Given the description of an element on the screen output the (x, y) to click on. 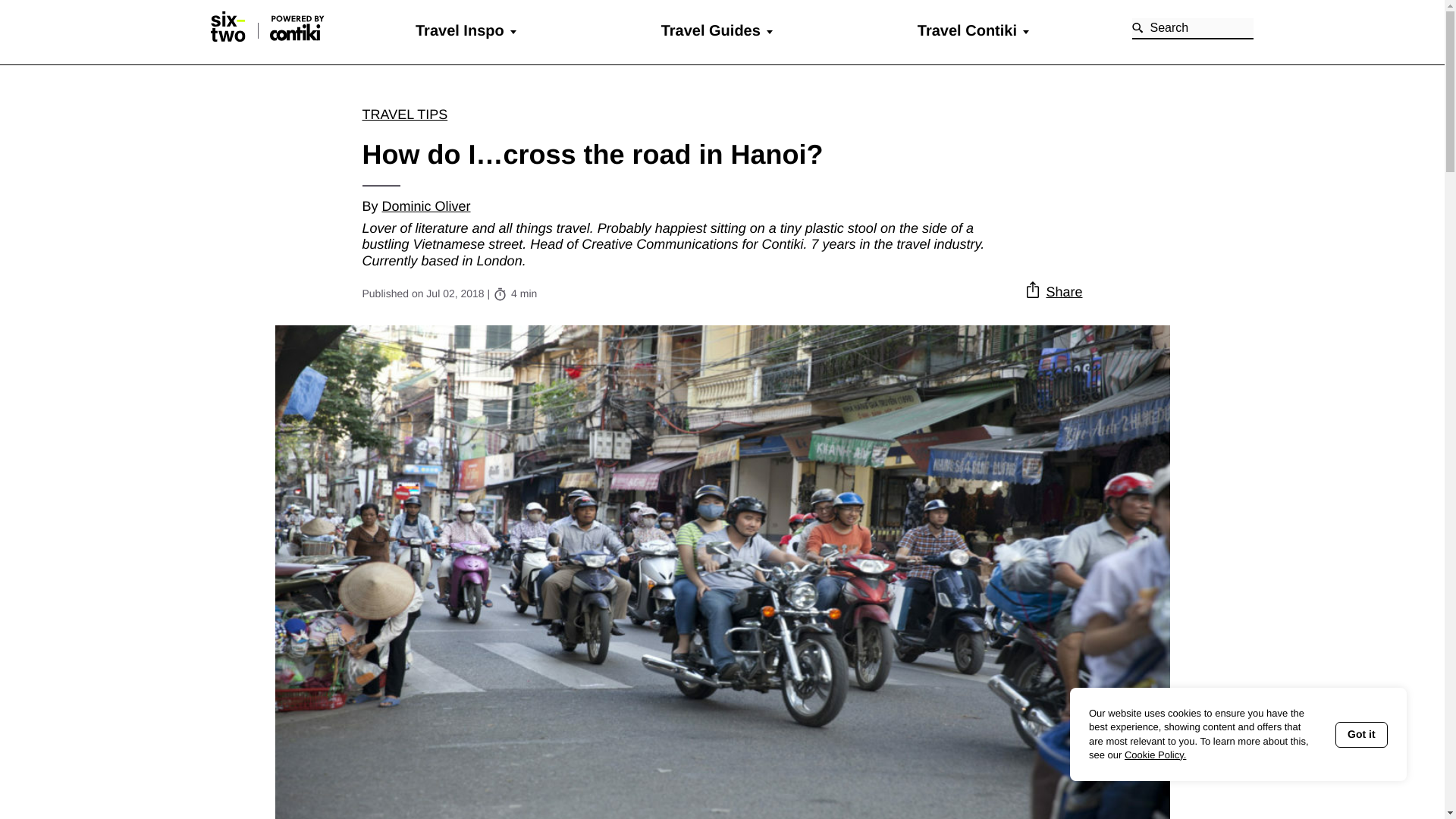
Travel Inspo (458, 30)
Travel Guides (710, 30)
Travel Contiki (966, 30)
